Given the description of an element on the screen output the (x, y) to click on. 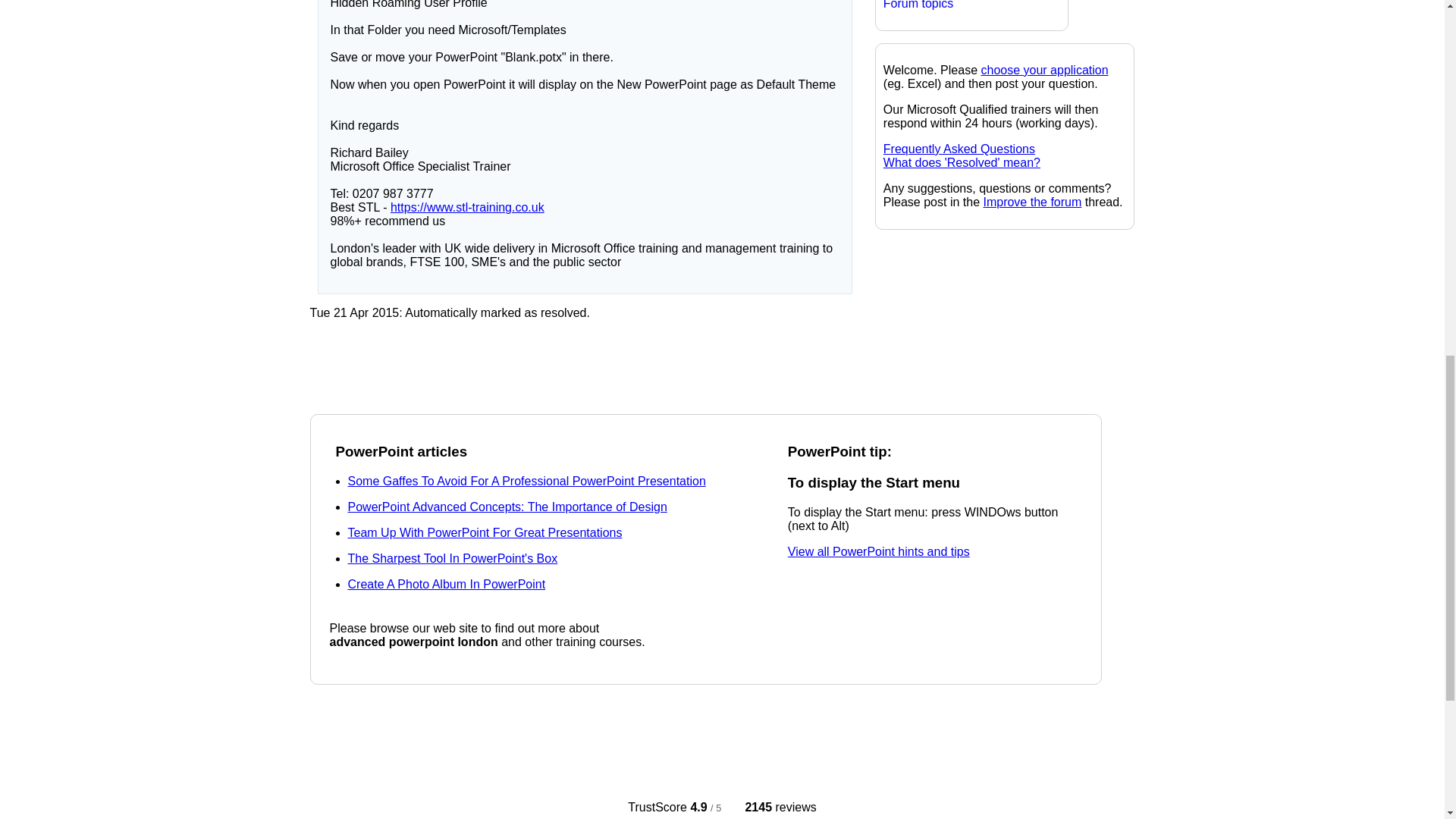
Create A Photo Album In PowerPoint (445, 584)
PowerPoint hints and tips (878, 551)
The Sharpest Tool In PowerPoint's Box (452, 558)
Team Up With PowerPoint For Great Presentations (484, 532)
PowerPoint Advanced Concepts: The Importance of Design (506, 506)
